Given the description of an element on the screen output the (x, y) to click on. 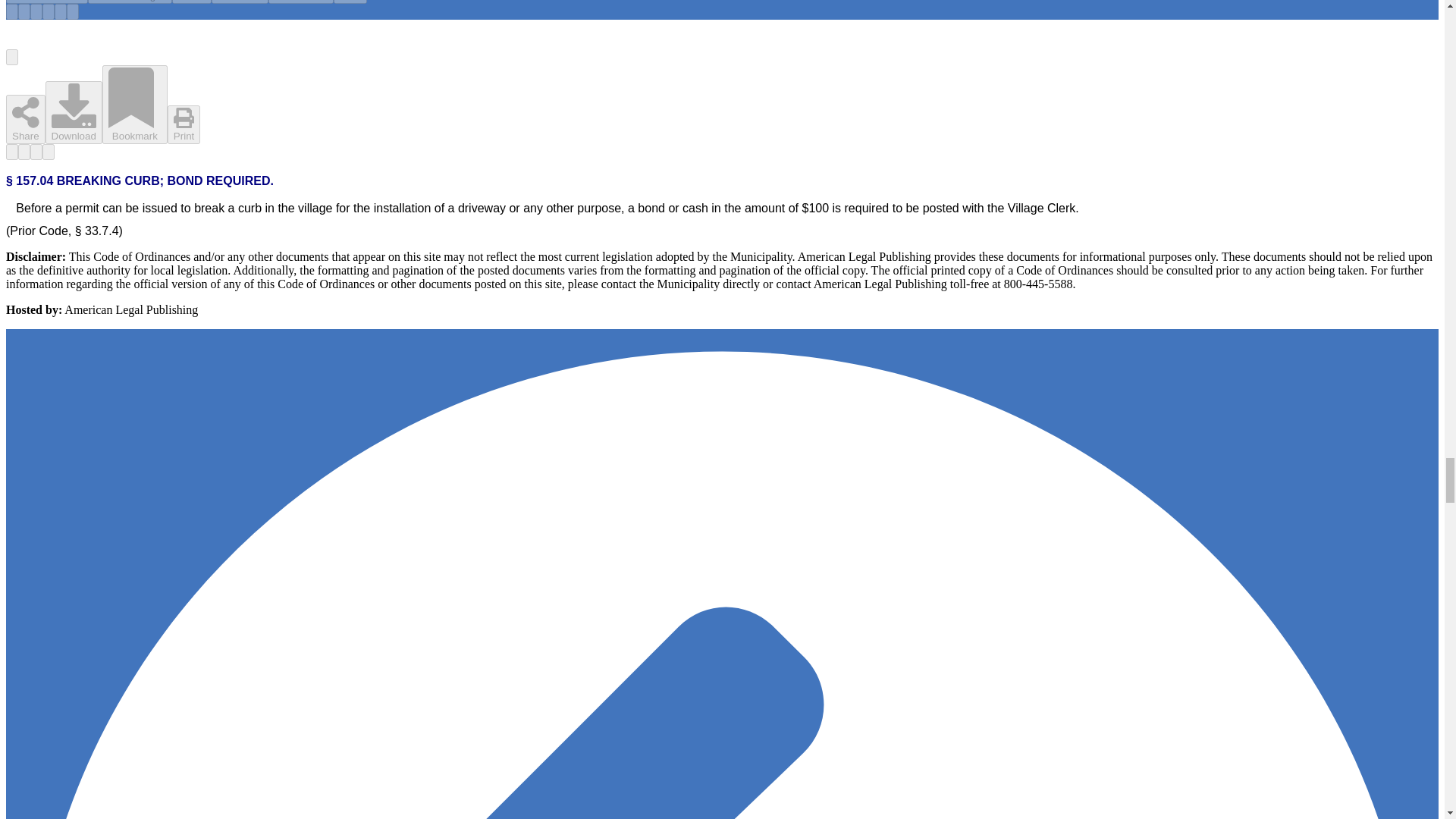
Print (349, 2)
Bookmark (300, 2)
Follow (23, 11)
Bookmark (60, 11)
Bookmark (134, 104)
Annotations Off (11, 11)
Share (36, 11)
Download (73, 112)
Download (239, 2)
Print (72, 11)
Share (25, 119)
Download (48, 11)
Follow (130, 2)
Share (191, 2)
Annotations Off (46, 2)
